Given the description of an element on the screen output the (x, y) to click on. 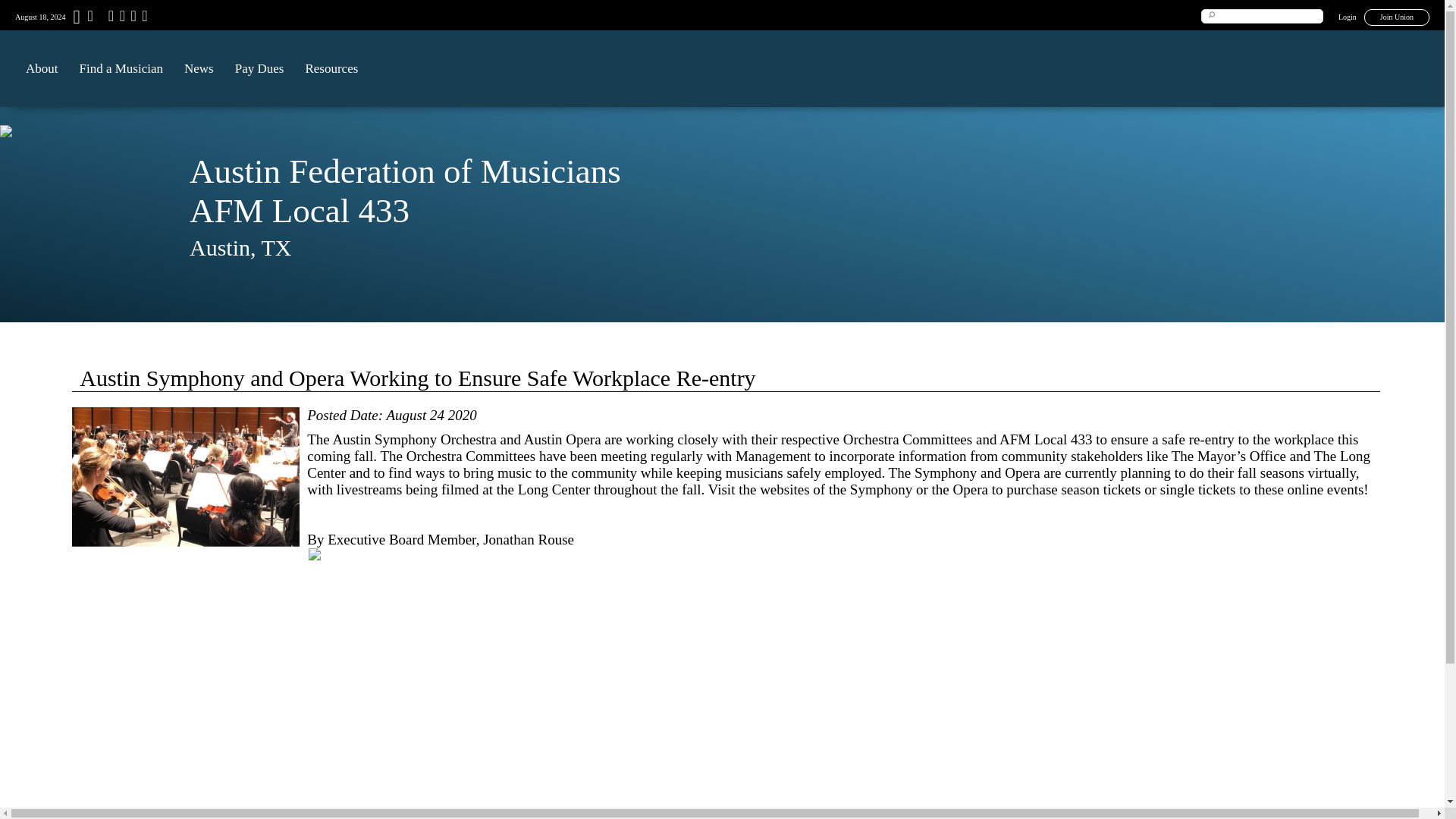
click to view youtube account (130, 18)
Find a Musician (120, 68)
Join Union (1396, 17)
click to view twitter account (120, 18)
click to view facebook account (108, 18)
click to view instagram account (142, 18)
